Given the description of an element on the screen output the (x, y) to click on. 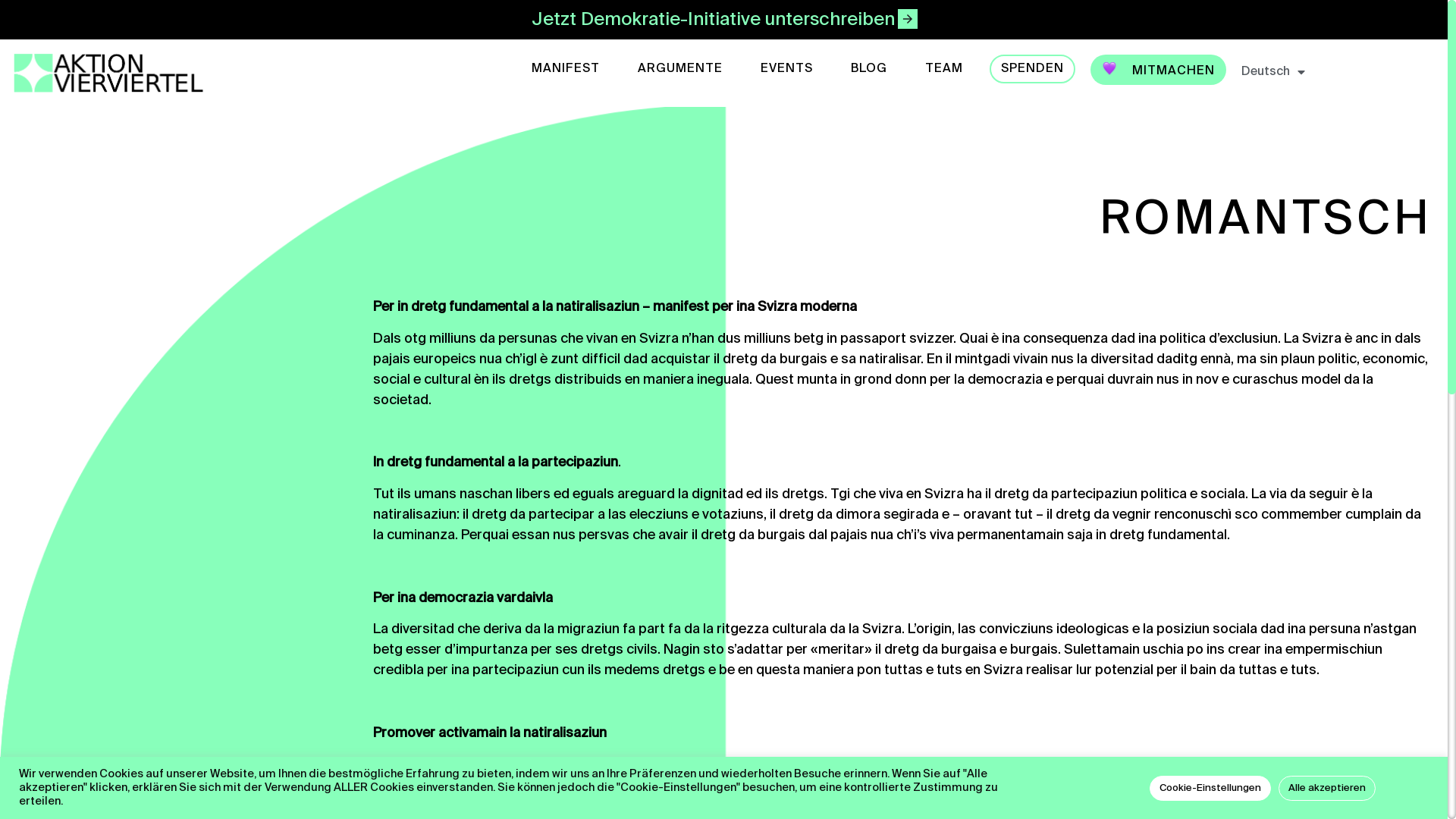
Deutsch Element type: text (1273, 71)
Jetzt Demokratie-Initiative unterschreiben Element type: text (723, 19)
TEAM Element type: text (943, 68)
EVENTS Element type: text (786, 68)
BLOG Element type: text (868, 68)
MANIFEST Element type: text (565, 68)
Alle akzeptieren Element type: text (1326, 787)
Cookie-Einstellungen Element type: text (1209, 787)
ARGUMENTE Element type: text (680, 68)
SPENDEN Element type: text (1032, 68)
